Given the description of an element on the screen output the (x, y) to click on. 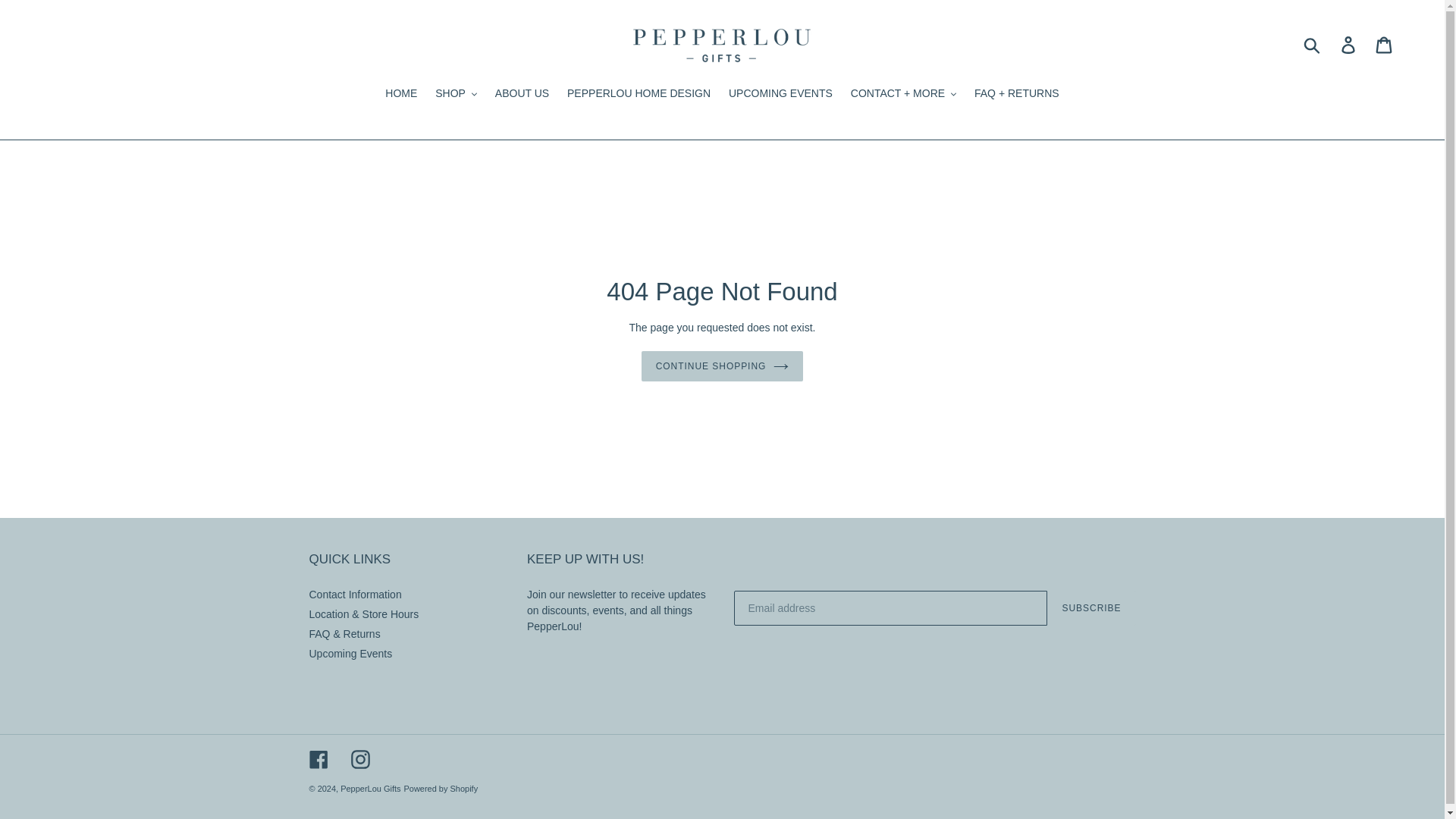
Log in (1349, 44)
Submit (1313, 44)
Cart (1385, 44)
